Given the description of an element on the screen output the (x, y) to click on. 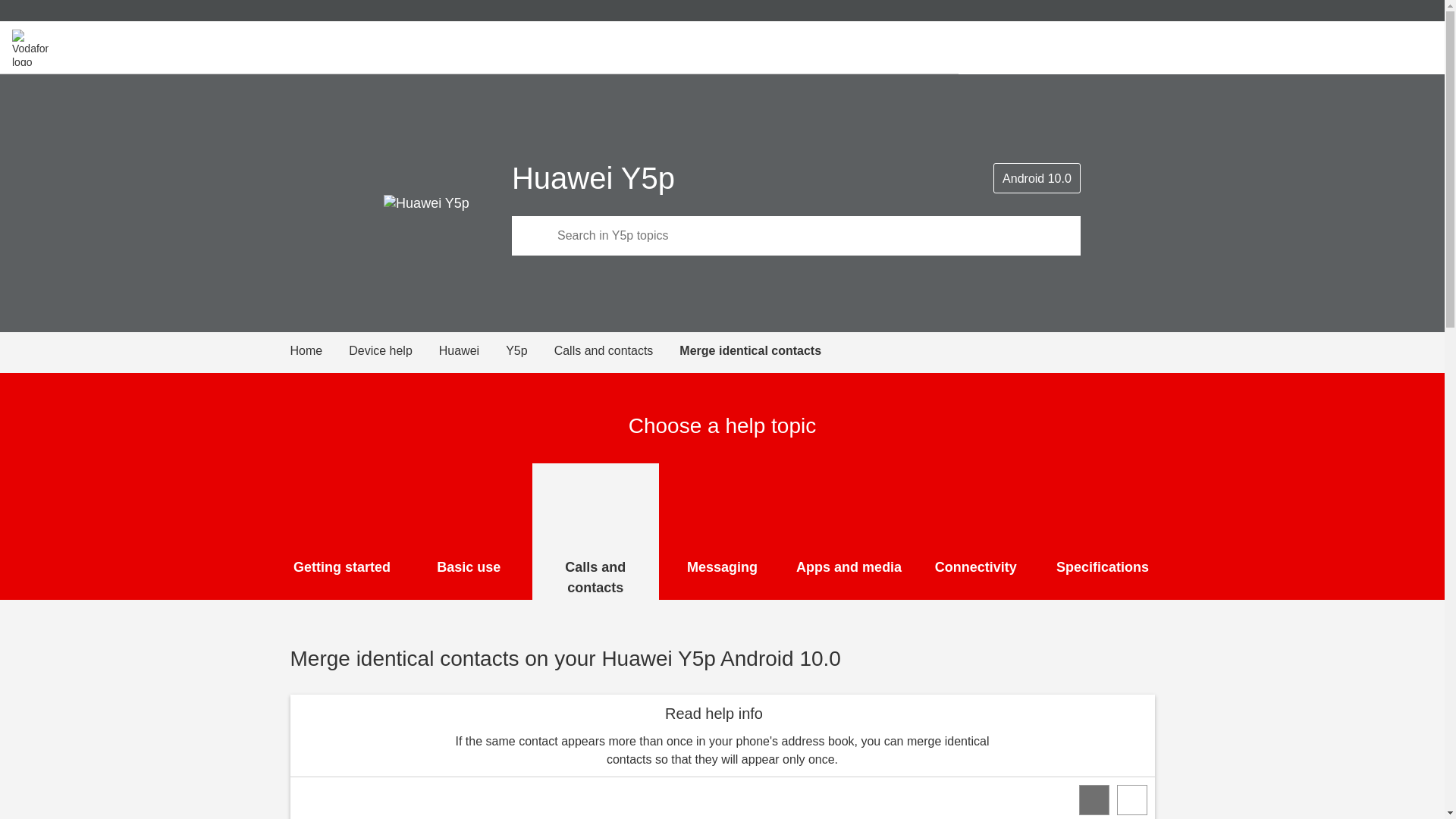
Huawei (472, 351)
Y5p (529, 351)
Calls and contacts (616, 351)
Calls and contacts (595, 531)
Specifications (1102, 531)
Connectivity (975, 531)
Getting started (342, 531)
Basic use (469, 531)
Device help (394, 351)
Merge identical contacts (750, 351)
Home (319, 351)
Messaging (722, 531)
Apps and media (849, 531)
